Given the description of an element on the screen output the (x, y) to click on. 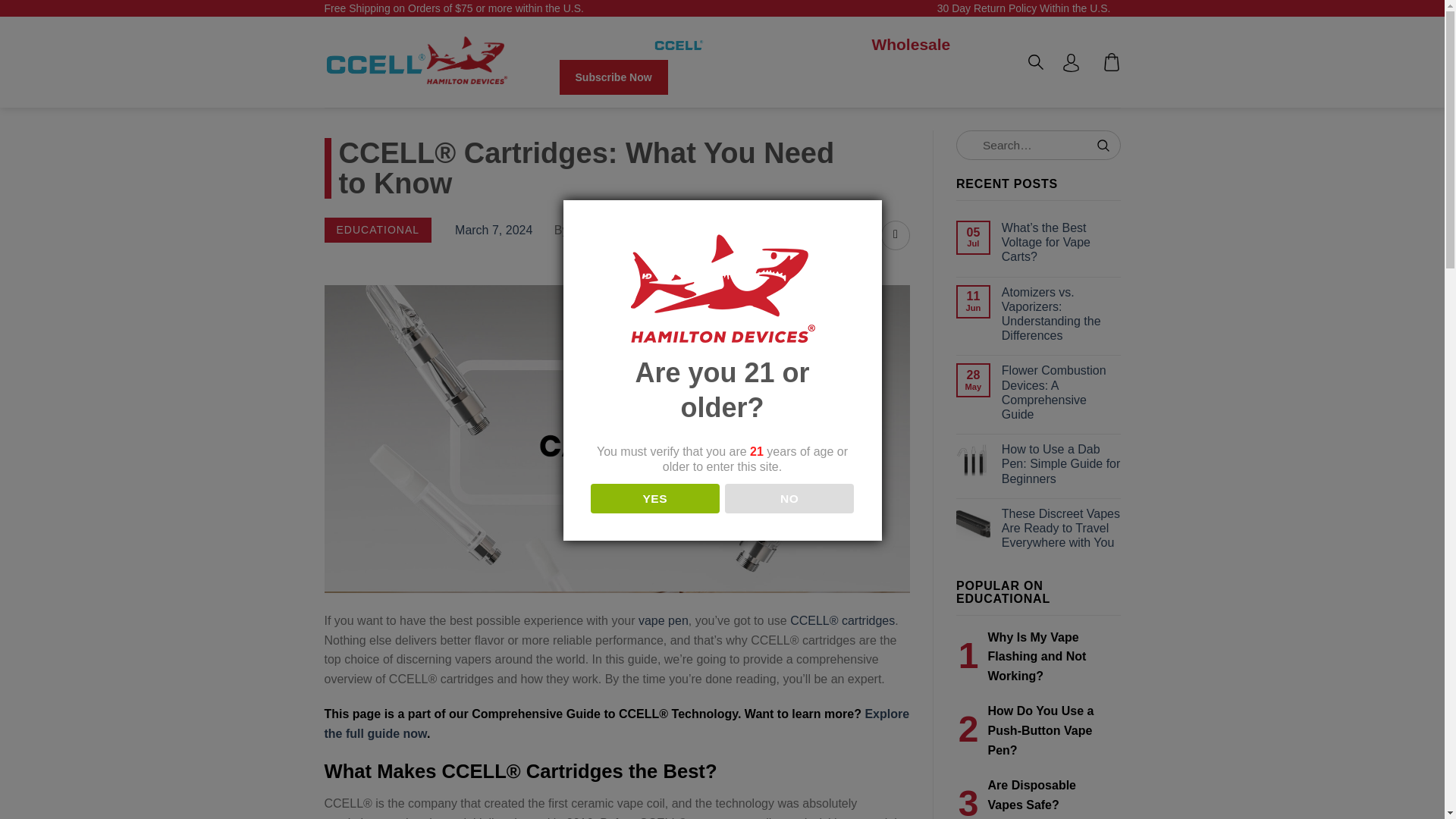
Home (573, 44)
These Discreet Vapes Are Ready to Travel Everywhere with You (1061, 528)
Atomizers vs. Vaporizers: Understanding the Differences (1061, 314)
Share on Facebook (864, 235)
Flower Combustion Devices: A Comprehensive Guide (1061, 392)
Shop (624, 44)
Share on Twitter (895, 235)
How to Use a Dab Pen: Simple Guide for Beginners (1061, 464)
